Given the description of an element on the screen output the (x, y) to click on. 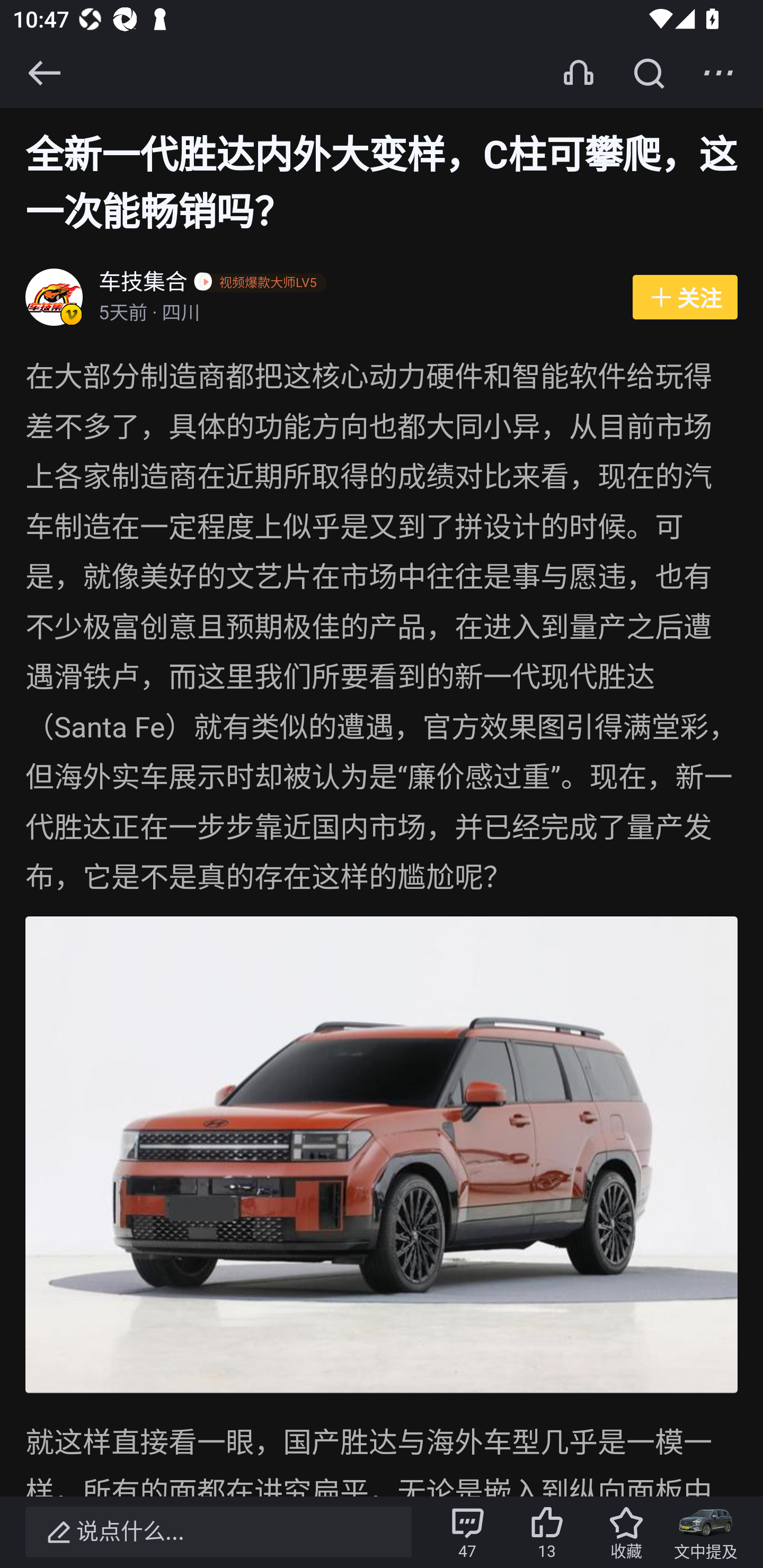
 (44, 72)
 (648, 72)
 (718, 72)
车技集合 (143, 283)
c9cb558bacd790f5b8d2c5f3a44a9243 视频爆款大师LV5 (263, 283)
关注 (684, 297)
5天前 · 四川 5天前  · 四川 (355, 314)
d_QKbCnP2pKKxzosxSBKUEeJ_h8 (381, 1154)
 47 (467, 1531)
13 (546, 1531)
收藏 (625, 1531)
文中提及 (705, 1531)
 说点什么... (218, 1531)
